Given the description of an element on the screen output the (x, y) to click on. 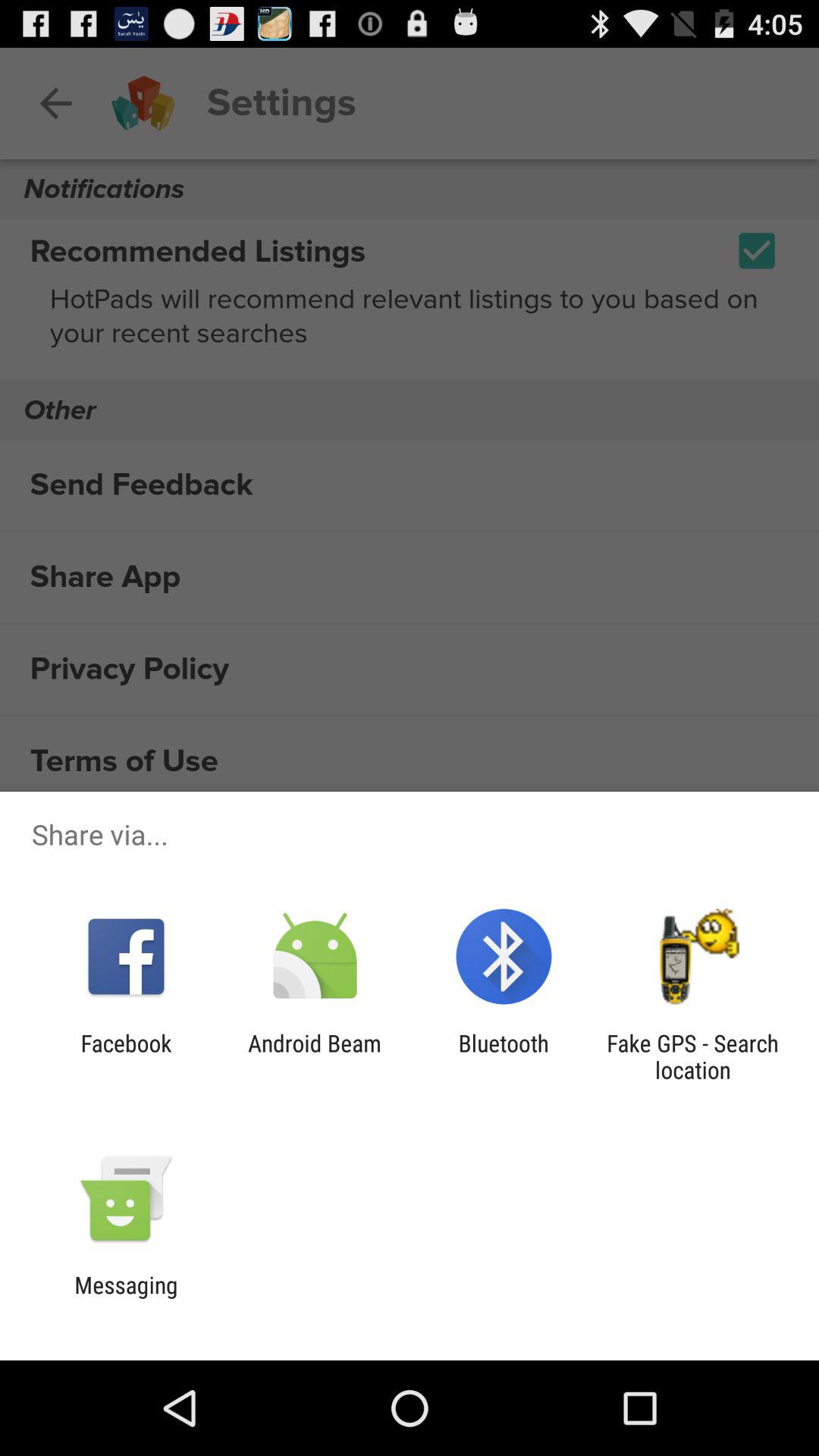
select app to the right of facebook icon (314, 1056)
